Given the description of an element on the screen output the (x, y) to click on. 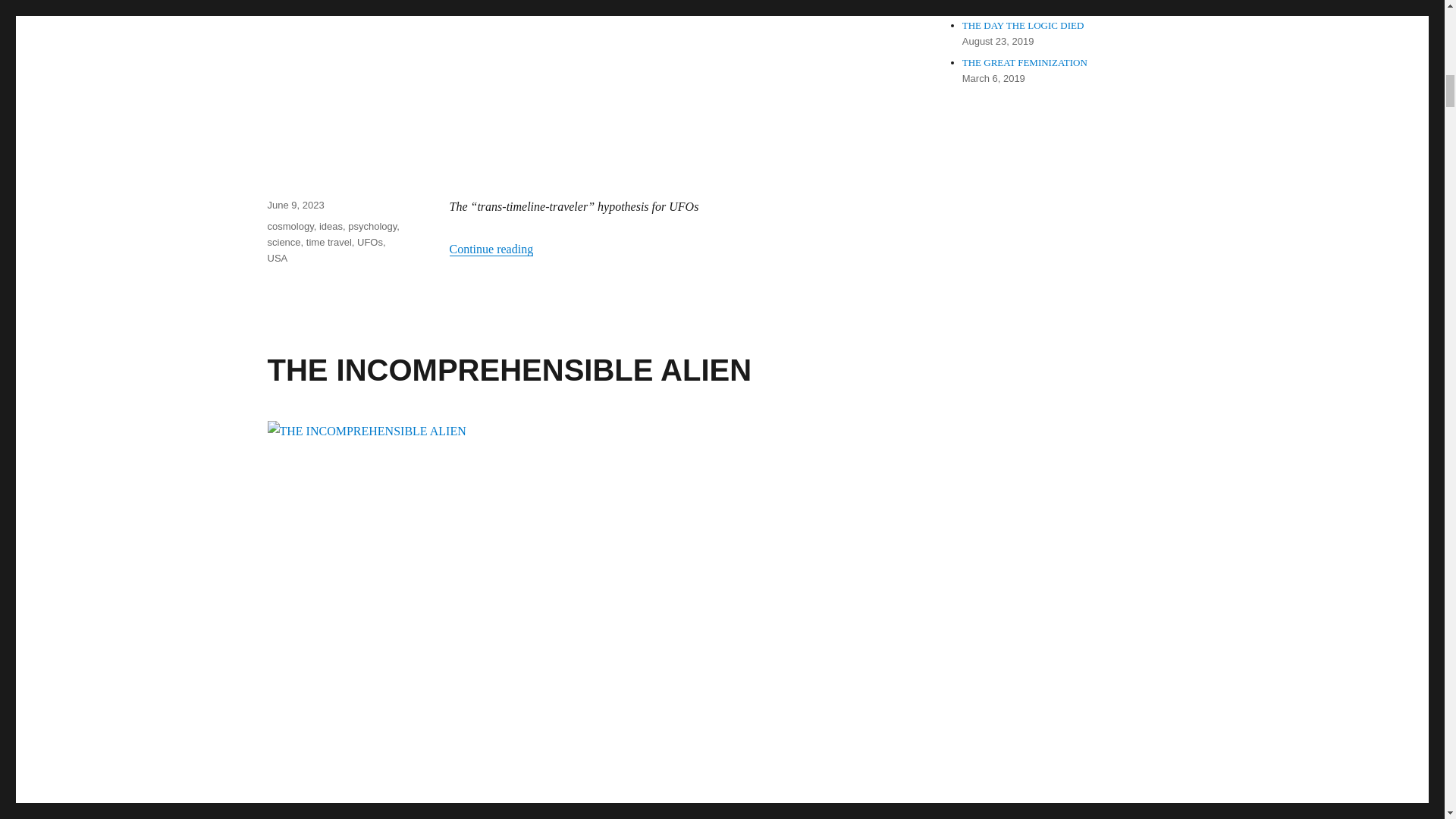
time travel (328, 242)
USA (276, 257)
ideas (330, 225)
science (282, 242)
June 9, 2023 (294, 204)
psychology (371, 225)
UFOs (369, 242)
cosmology (289, 225)
